Given the description of an element on the screen output the (x, y) to click on. 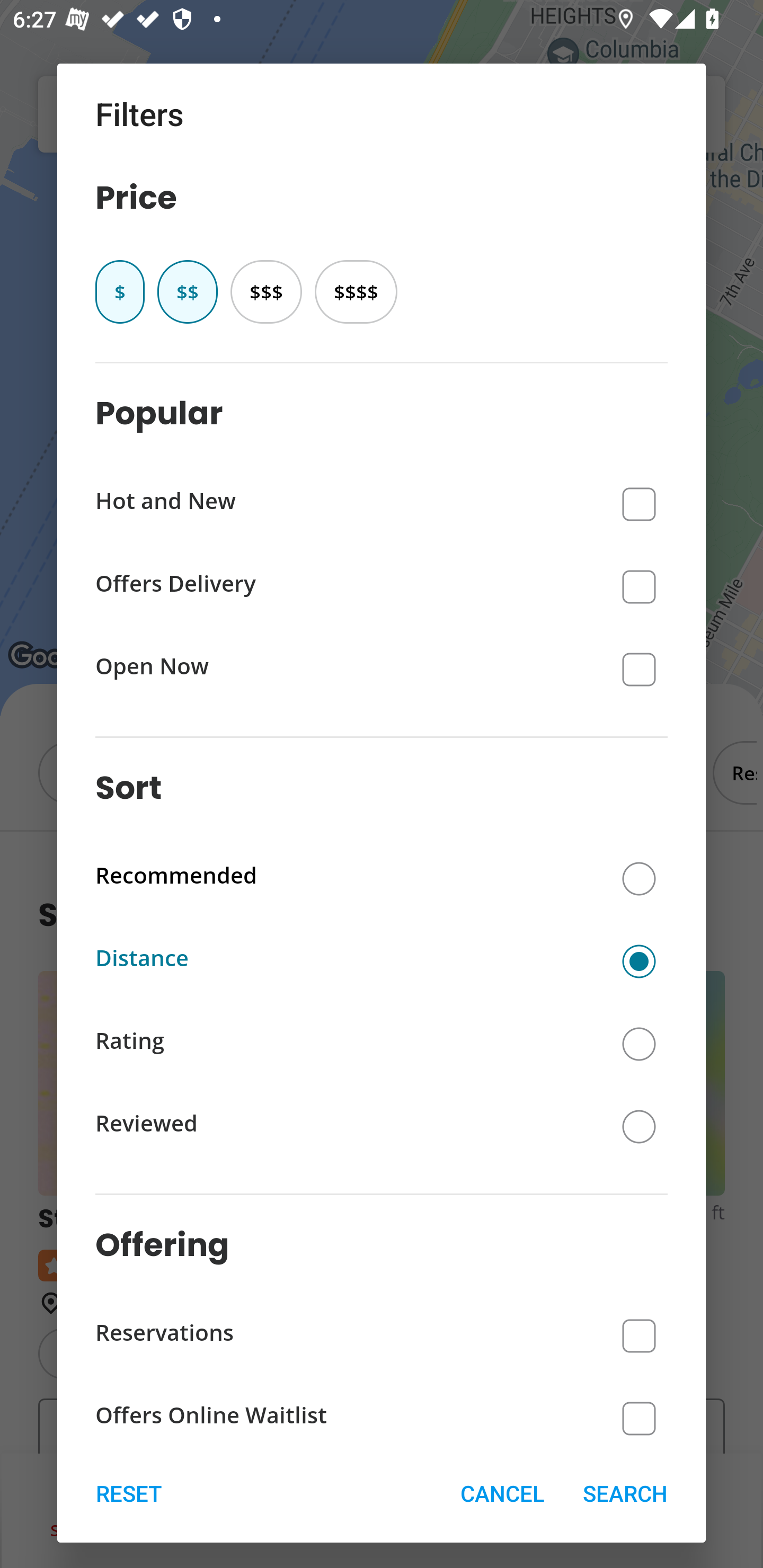
SEARCH (624, 1493)
